Given the description of an element on the screen output the (x, y) to click on. 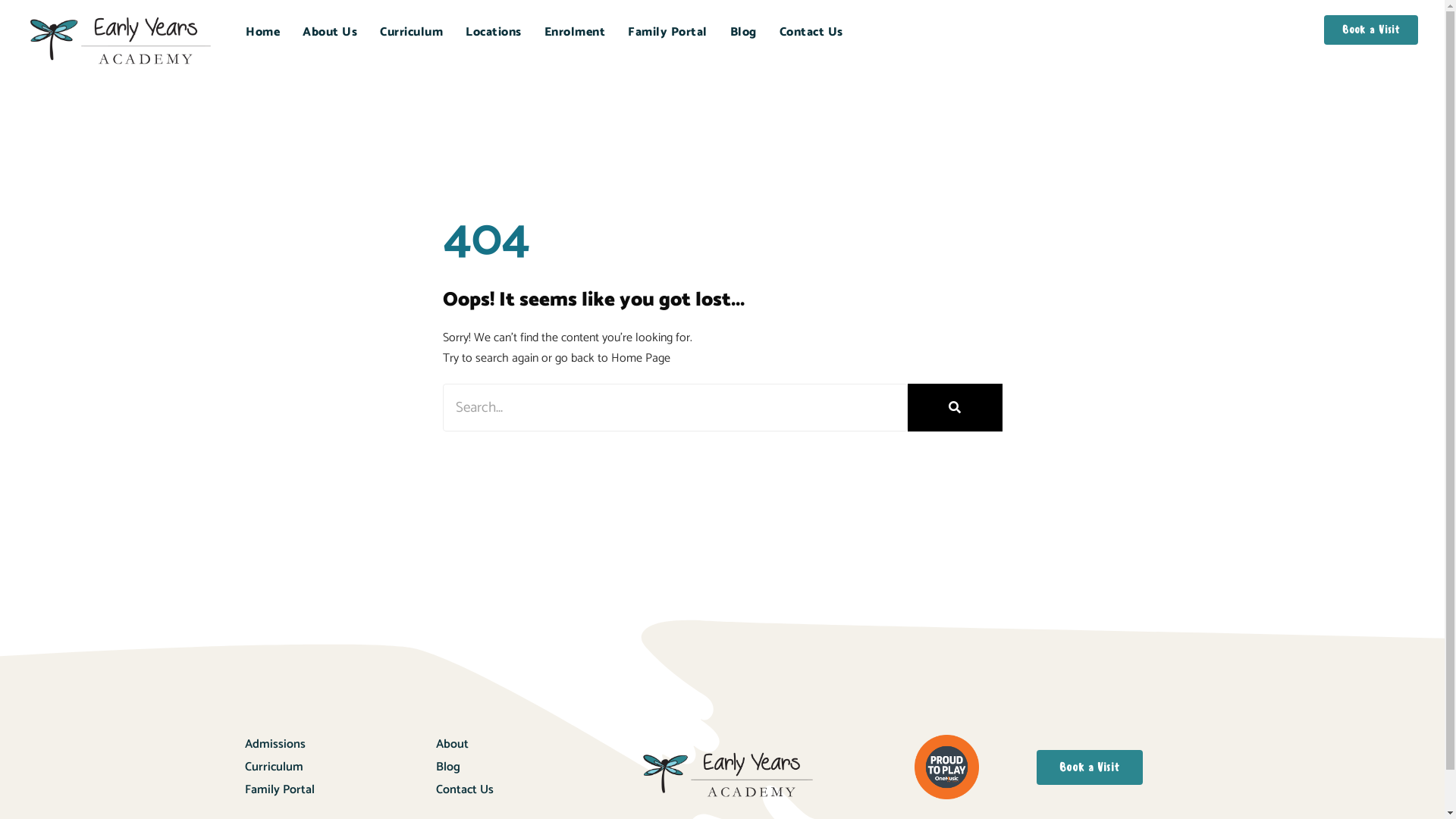
eya-logo Element type: hover (727, 774)
Curriculum Element type: text (411, 32)
Blog Element type: text (517, 767)
Book a Visit Element type: text (1371, 29)
Enrolment Element type: text (575, 32)
About Us Element type: text (329, 32)
Contact Us Element type: text (811, 32)
Locations Element type: text (493, 32)
Contact Us Element type: text (517, 789)
About Element type: text (517, 744)
Curriculum Element type: text (339, 767)
Family Portal Element type: text (339, 789)
Home Element type: text (262, 32)
Admissions Element type: text (339, 744)
Blog Element type: text (743, 32)
Family Portal Element type: text (667, 32)
Book a Visit Element type: text (1089, 766)
